Given the description of an element on the screen output the (x, y) to click on. 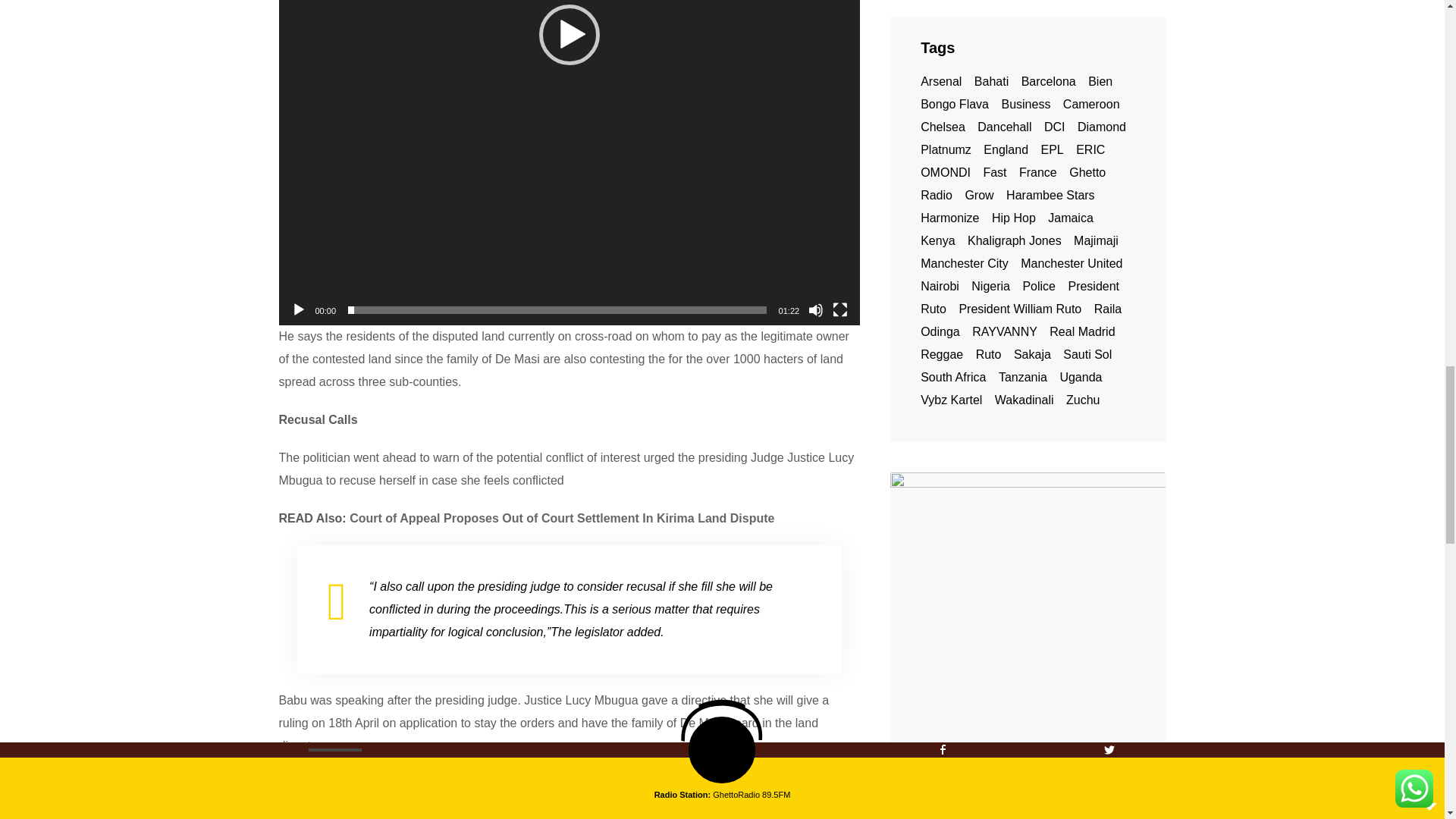
Play (298, 309)
Posts by Rodgers Oduor (458, 806)
Fullscreen (839, 309)
Mute (816, 309)
